Given the description of an element on the screen output the (x, y) to click on. 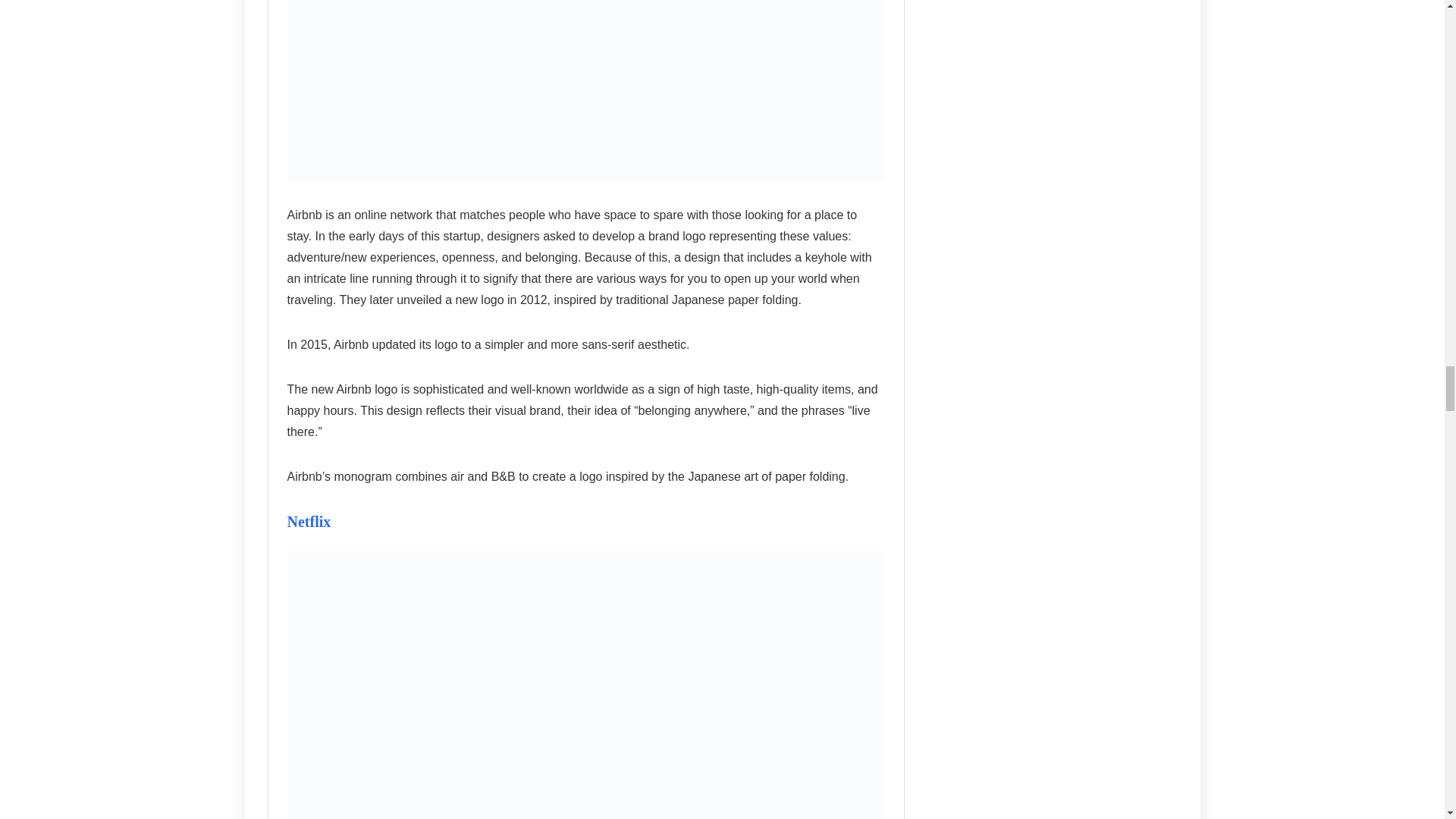
Netflix (308, 521)
Brand Identity: The Complete Guide 7 (584, 90)
